Given the description of an element on the screen output the (x, y) to click on. 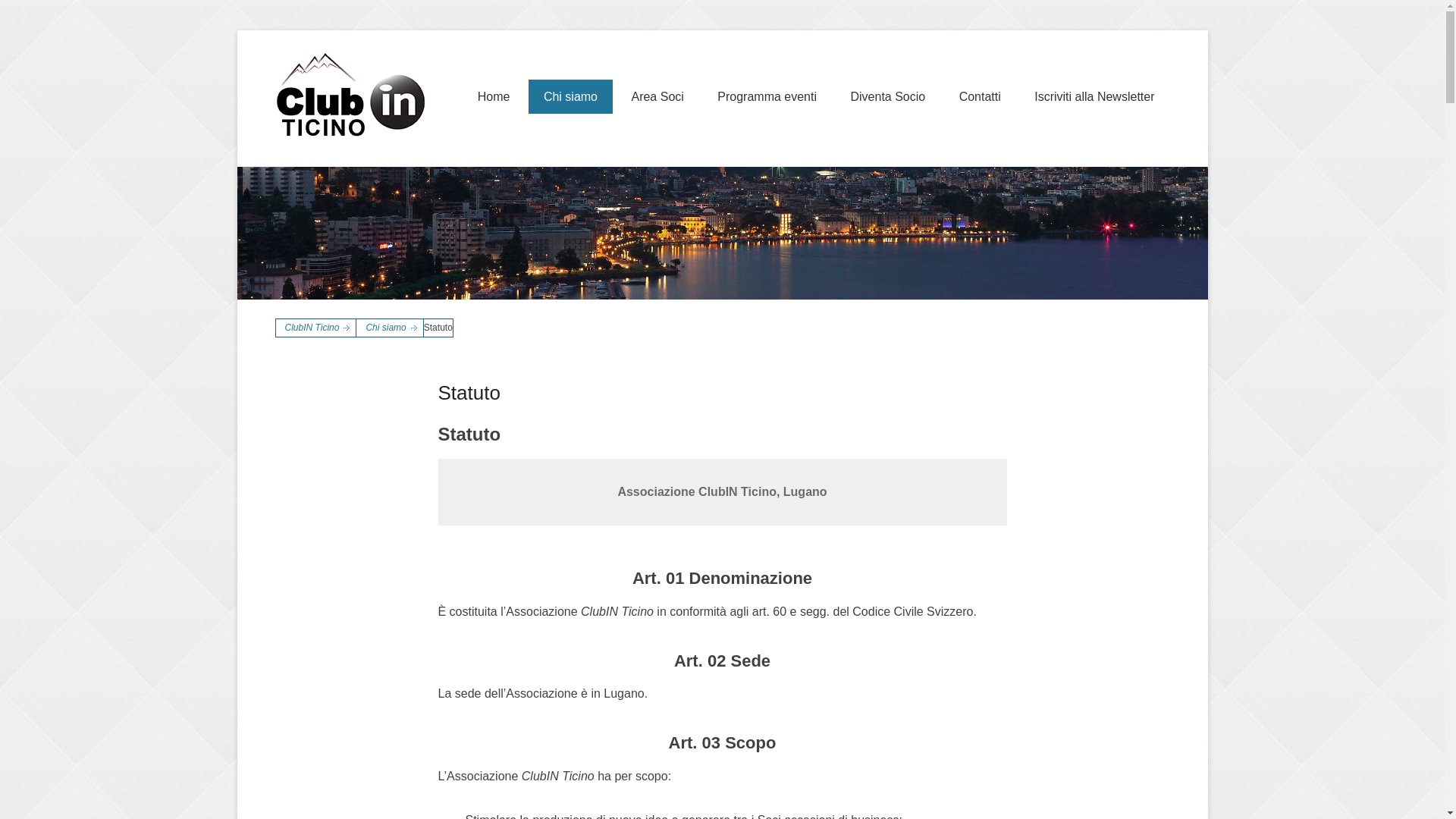
Iscriviti alla Newsletter Element type: text (1094, 96)
Home Element type: text (493, 96)
Area Soci Element type: text (656, 96)
ClubIN Ticino Element type: text (522, 51)
Programma eventi Element type: text (766, 96)
Contatti Element type: text (980, 96)
ClubIN Ticino Element type: text (316, 327)
Chi siamo Element type: text (570, 96)
Salta al contenuto Element type: text (510, 89)
Chi siamo Element type: text (389, 327)
Diventa Socio Element type: text (887, 96)
Statuto Element type: text (469, 392)
